Given the description of an element on the screen output the (x, y) to click on. 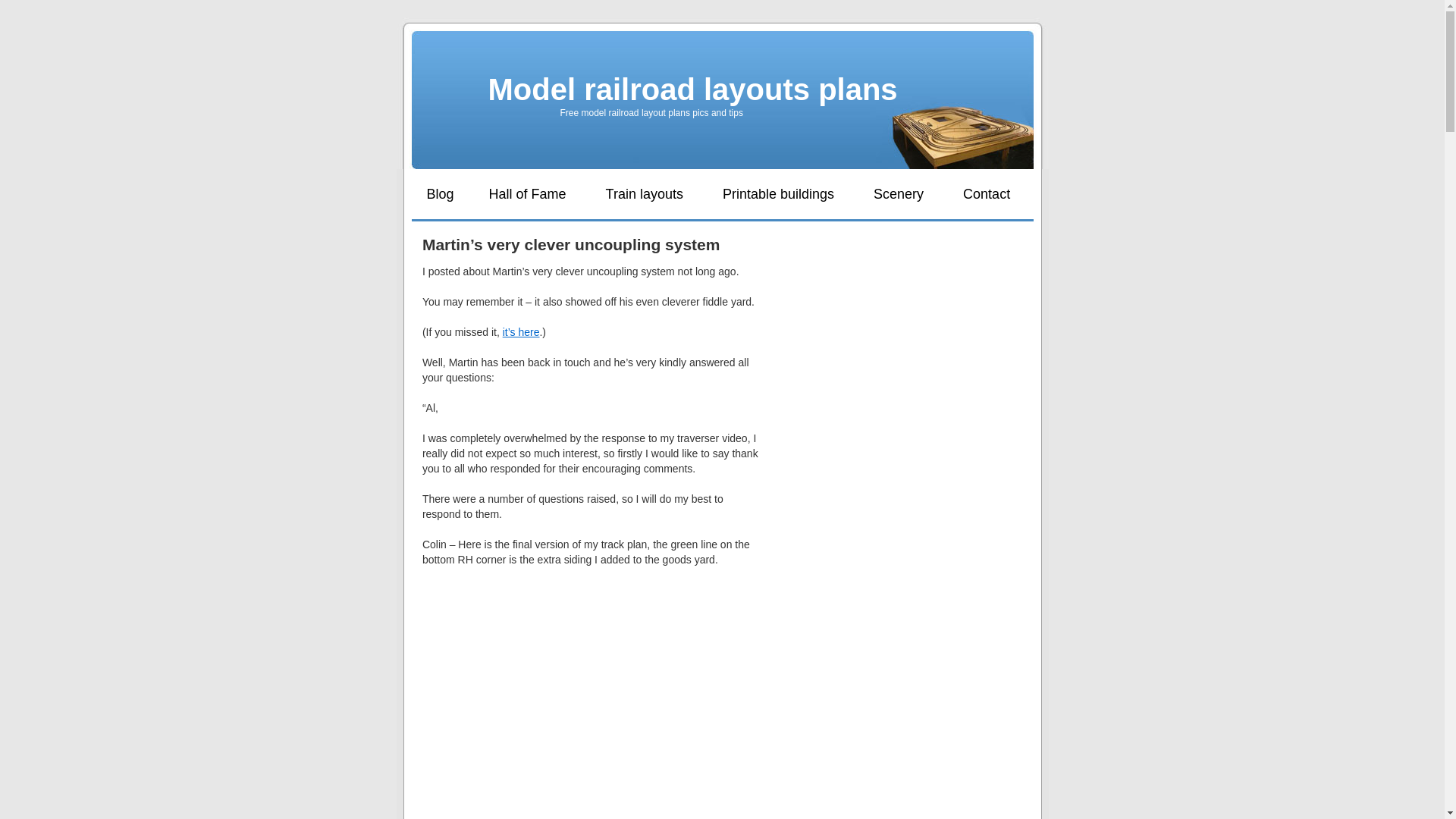
Blog (439, 193)
Model train scenery (898, 193)
Train layouts (644, 193)
Hall of Fame (527, 193)
Model railroad layouts plans (692, 89)
Model railroad layouts plans (692, 89)
